Given the description of an element on the screen output the (x, y) to click on. 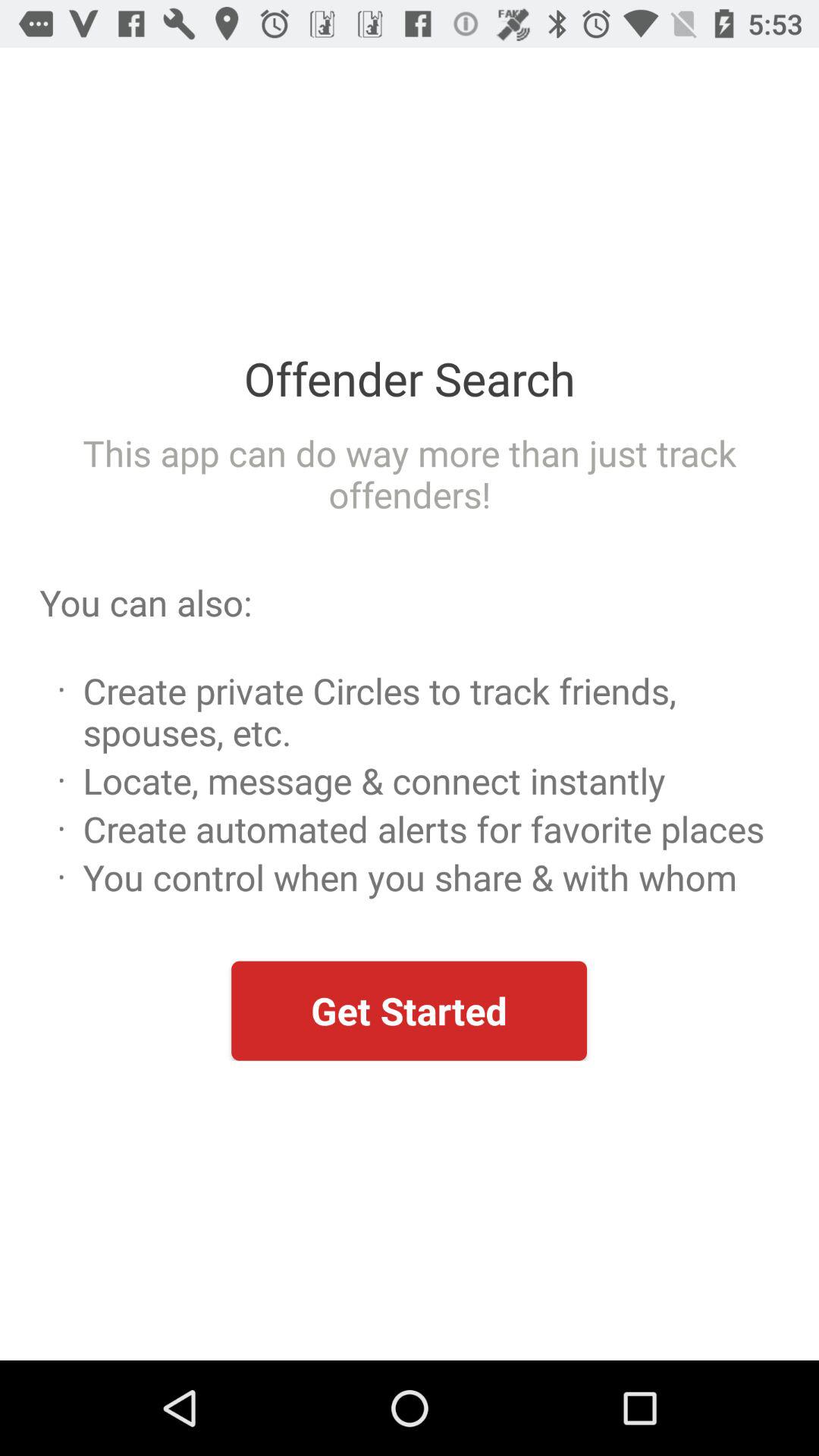
jump to the get started item (408, 1010)
